Given the description of an element on the screen output the (x, y) to click on. 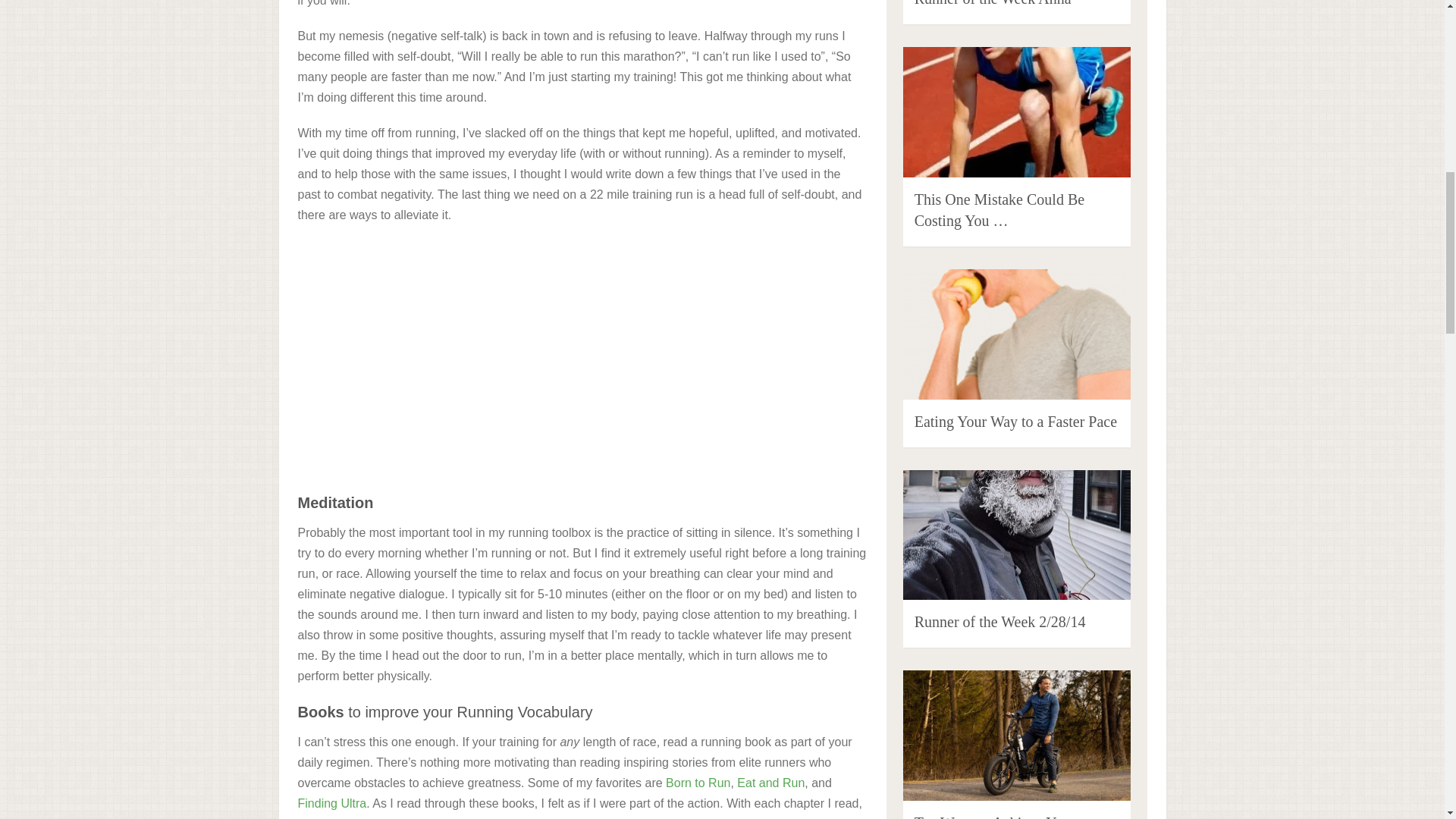
Eat and Run (770, 782)
Born to Run (697, 782)
Finding Ultra (331, 802)
